Given the description of an element on the screen output the (x, y) to click on. 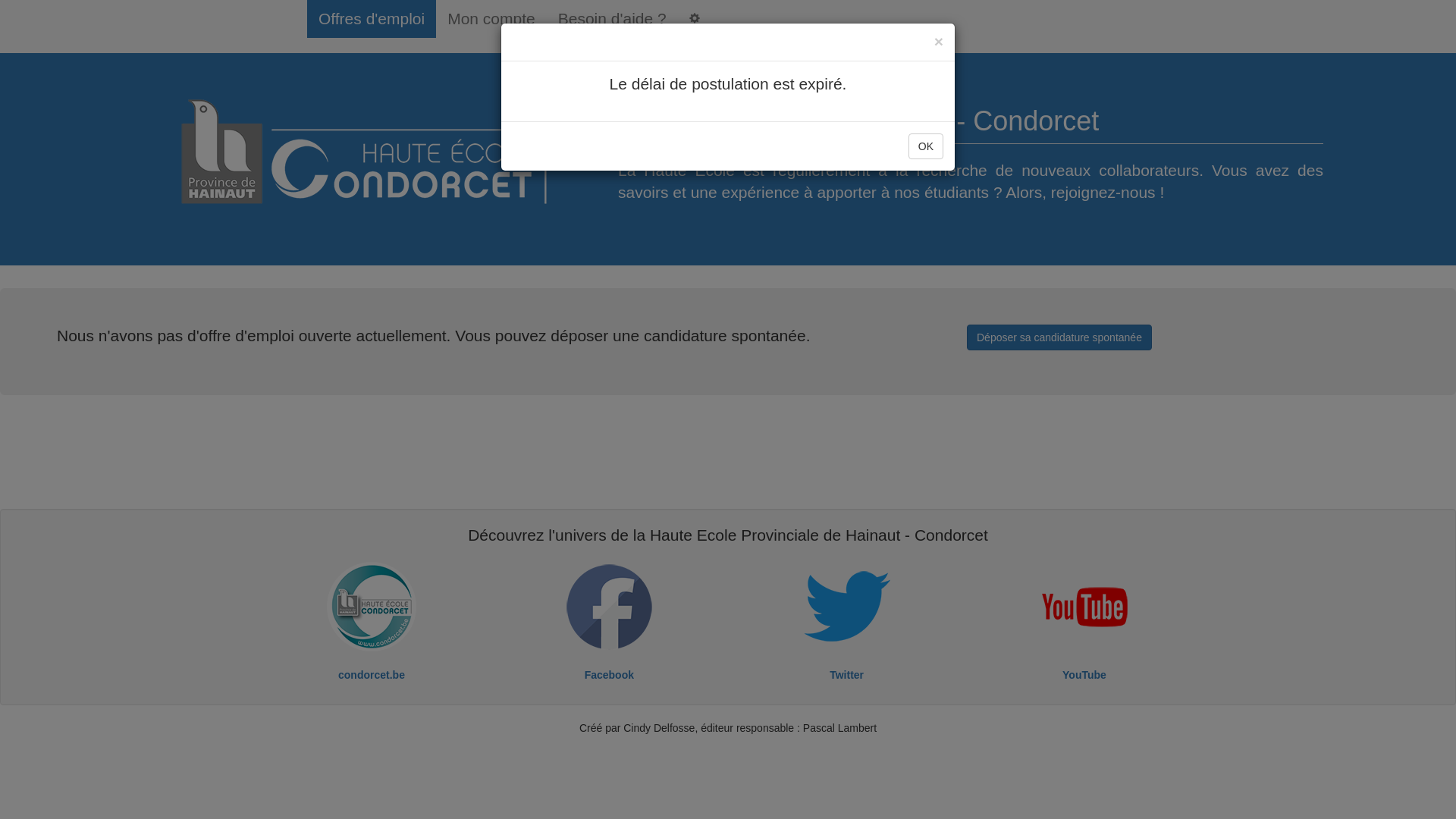
YouTube Element type: text (1084, 674)
Besoin d'aide ? Element type: text (611, 18)
condorcet.be Element type: text (371, 674)
Mon compte Element type: text (491, 18)
Facebook Element type: text (608, 674)
Twitter Element type: text (846, 674)
Offres d'emploi Element type: text (371, 18)
OK Element type: text (925, 146)
